Given the description of an element on the screen output the (x, y) to click on. 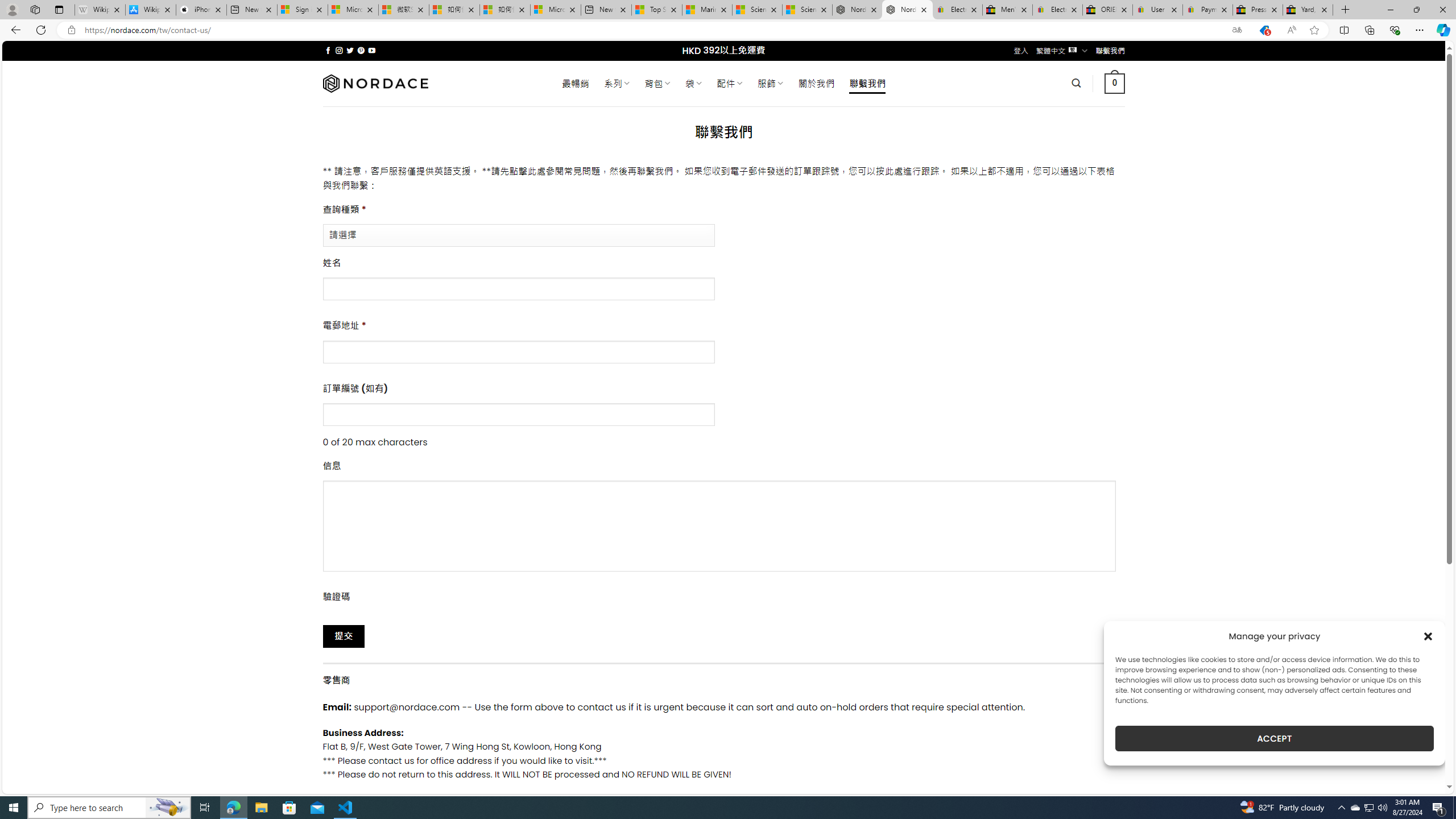
 0  (1115, 83)
Follow on Twitter (349, 50)
